Given the description of an element on the screen output the (x, y) to click on. 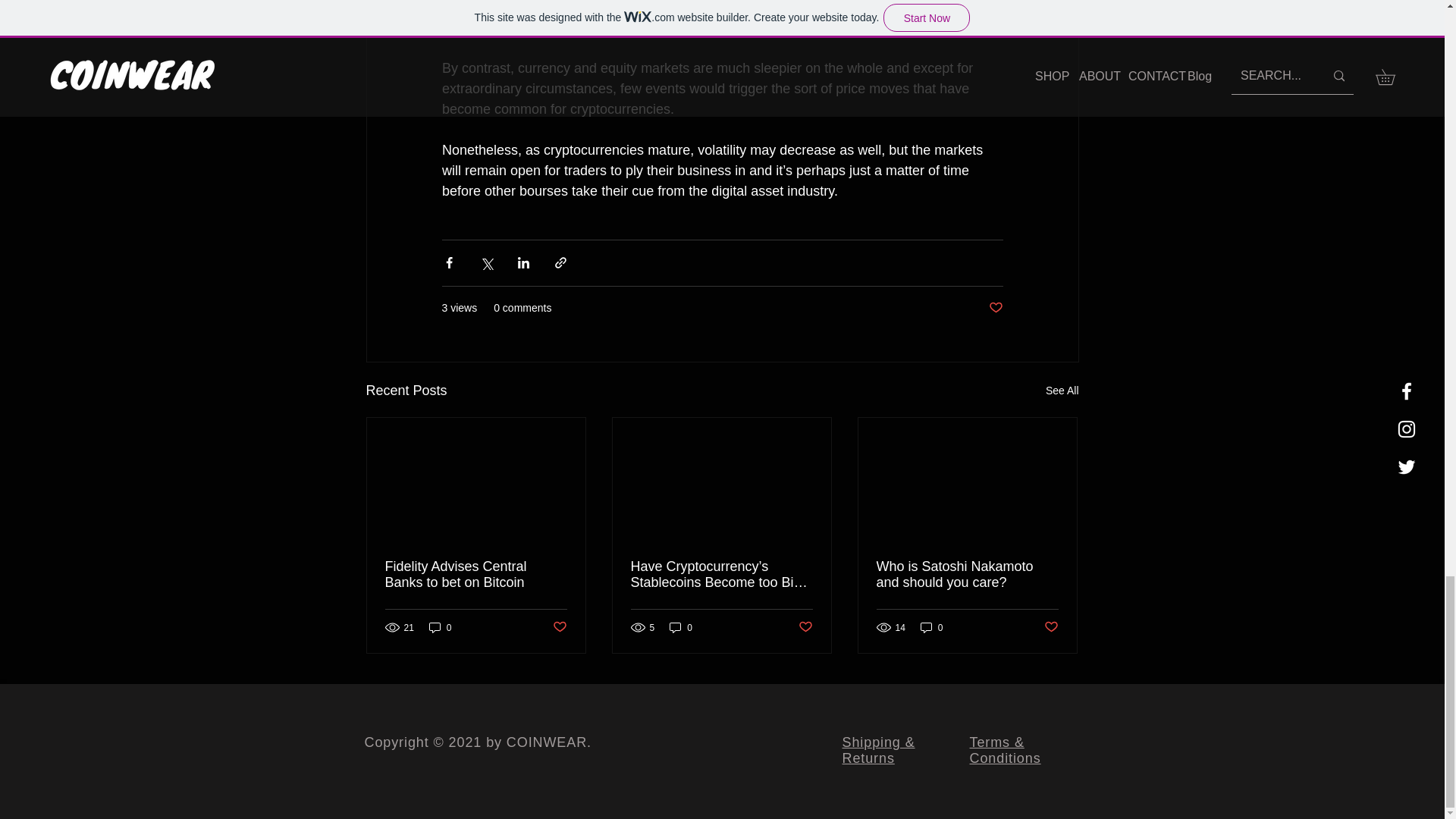
Post not marked as liked (995, 308)
0 (681, 626)
0 (931, 626)
0 (440, 626)
Post not marked as liked (558, 627)
See All (1061, 391)
Who is Satoshi Nakamoto and should you care? (967, 574)
Post not marked as liked (804, 627)
Post not marked as liked (1050, 627)
Fidelity Advises Central Banks to bet on Bitcoin (476, 574)
